Given the description of an element on the screen output the (x, y) to click on. 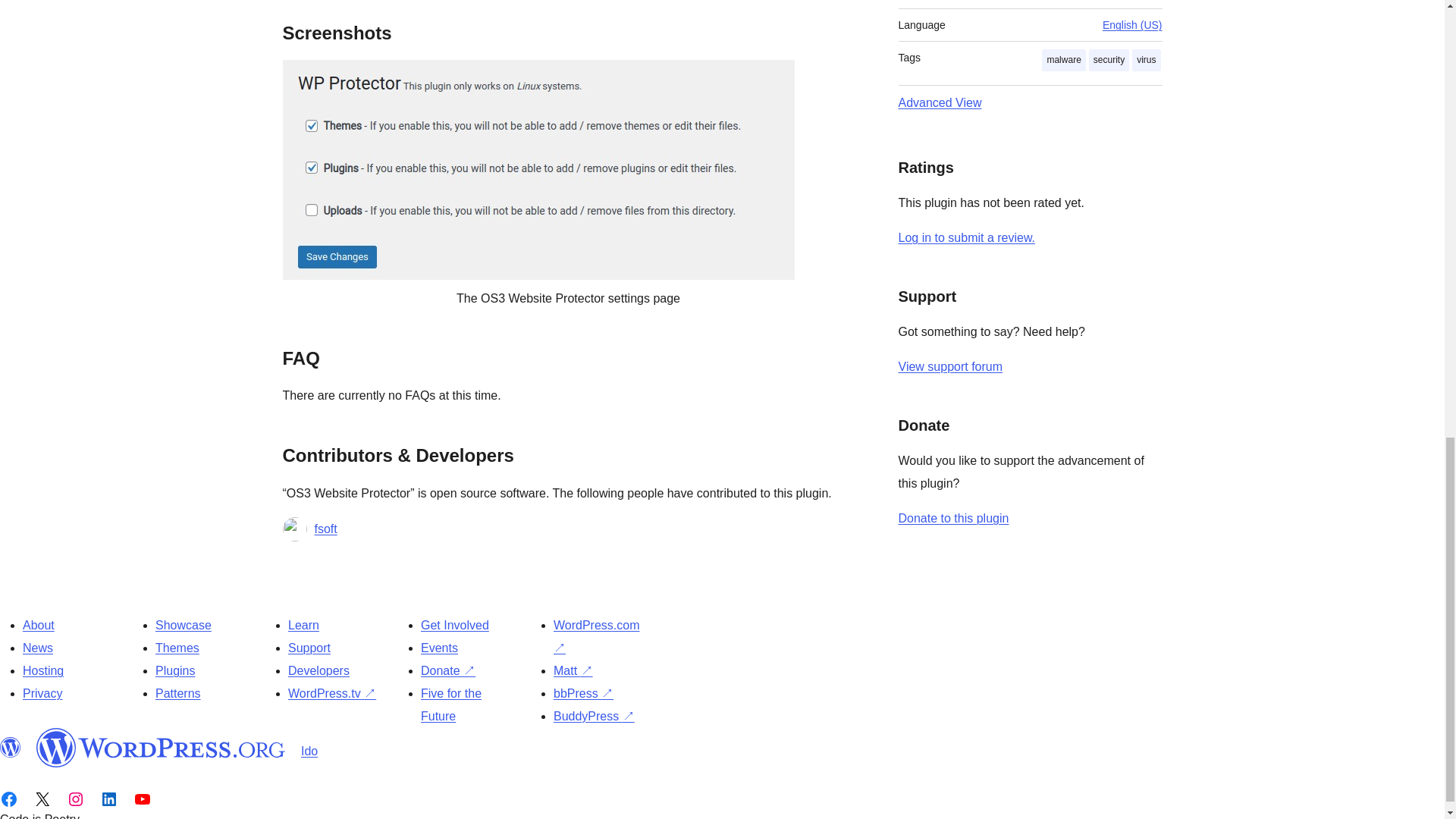
WordPress.org (160, 747)
fsoft (325, 528)
Log in to WordPress.org (966, 237)
WordPress.org (10, 747)
